Given the description of an element on the screen output the (x, y) to click on. 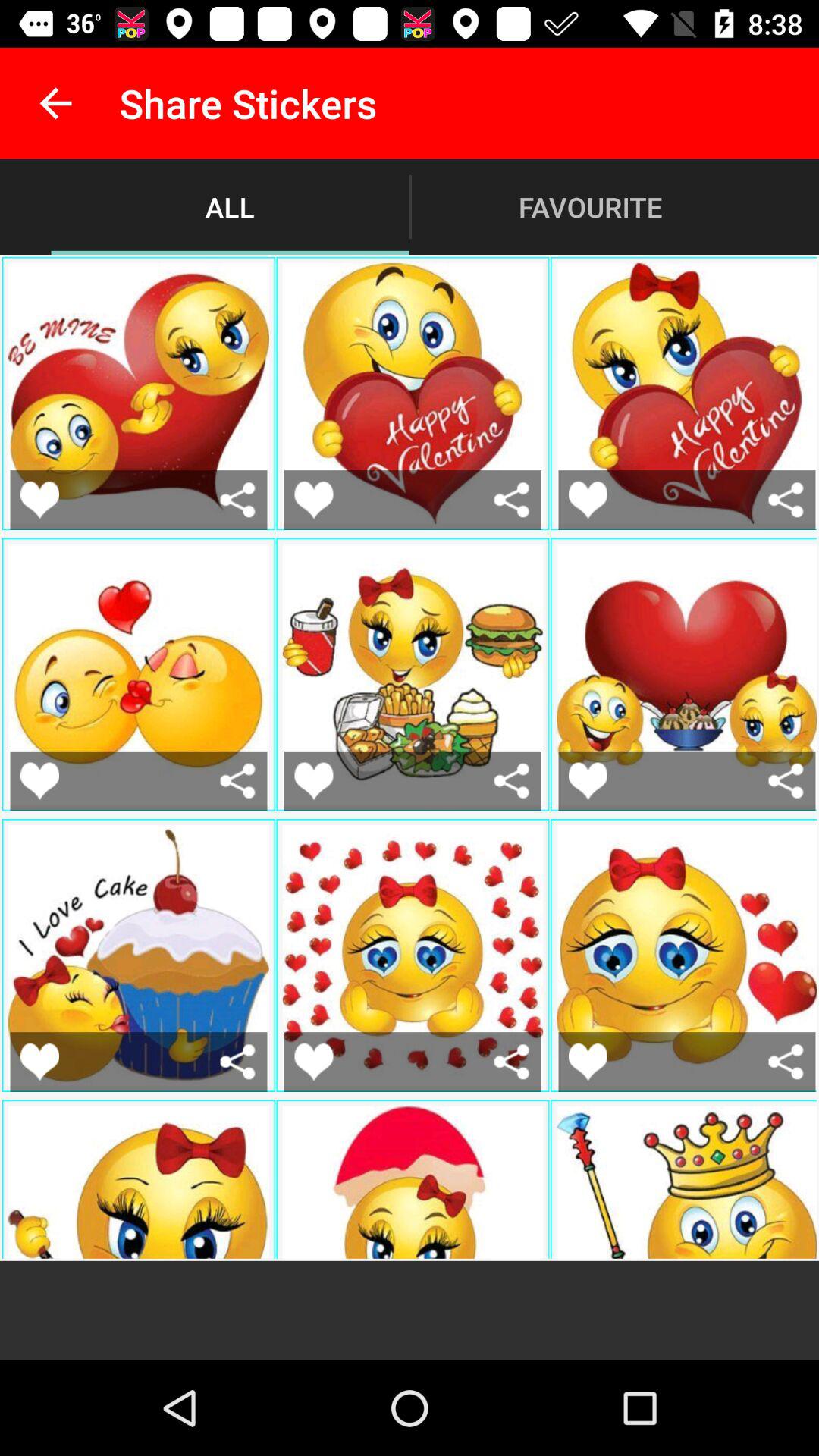
share the sticker (237, 499)
